Given the description of an element on the screen output the (x, y) to click on. 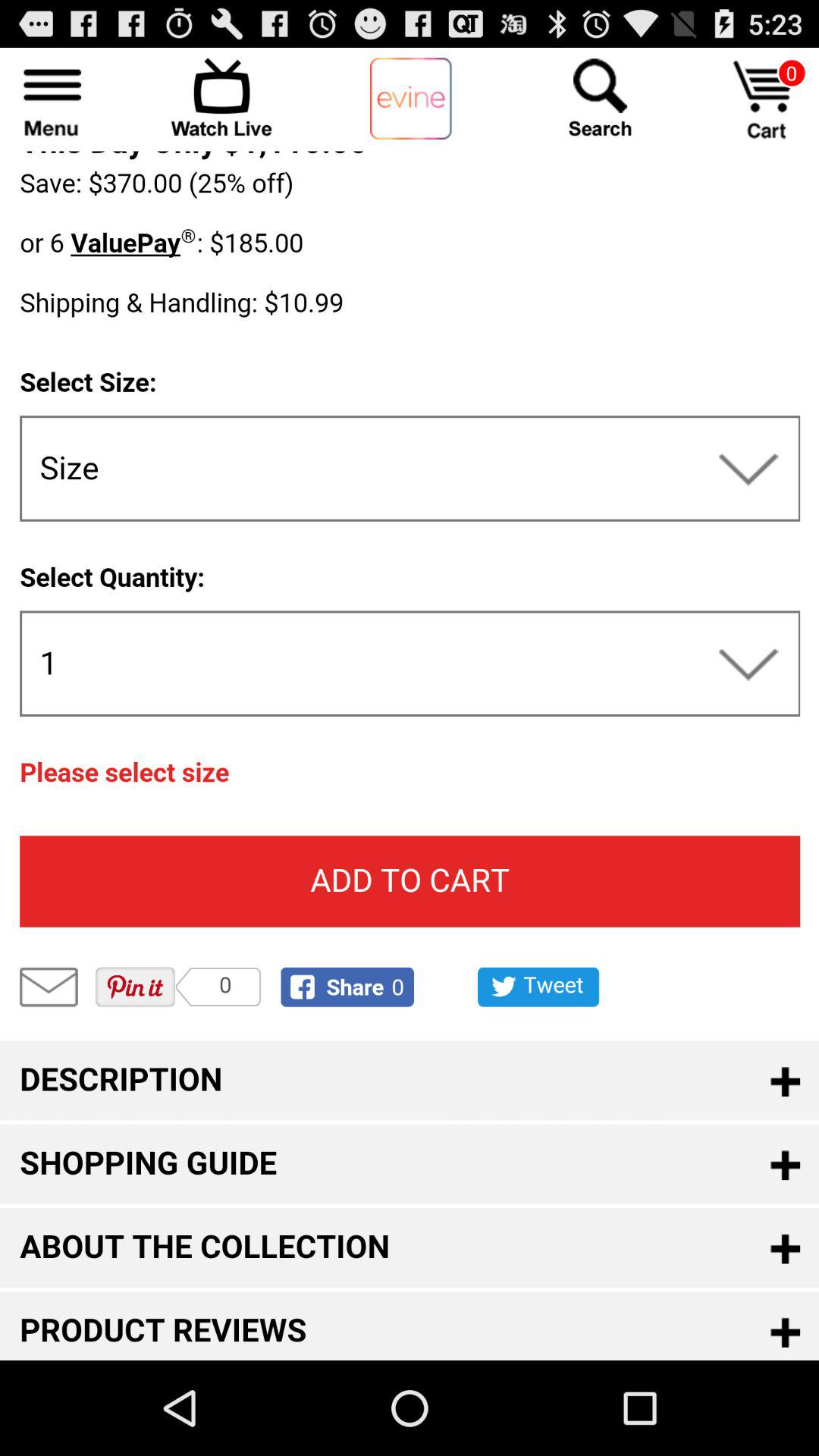
search (599, 97)
